Given the description of an element on the screen output the (x, y) to click on. 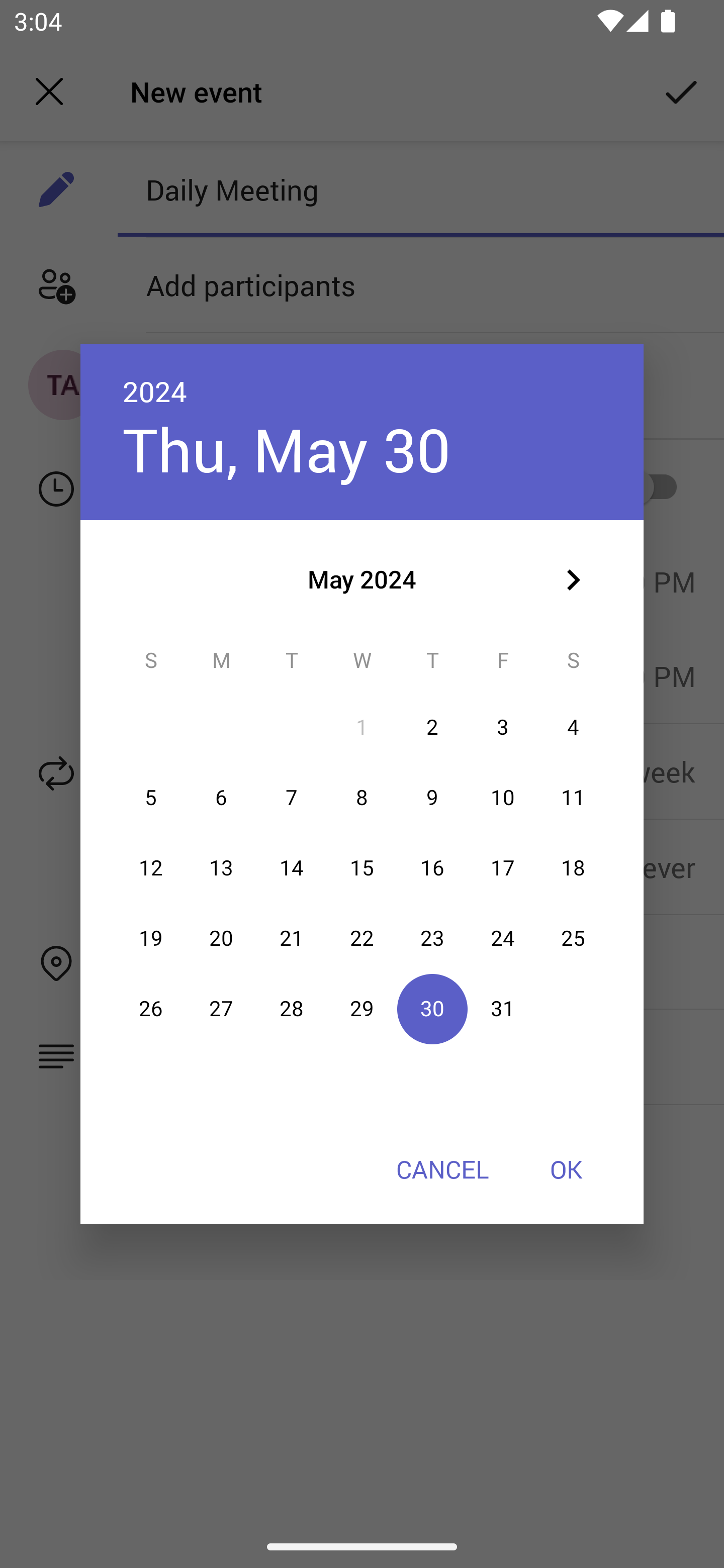
2024 (154, 391)
Thu, May 30 (286, 449)
Next month (572, 579)
1 01 May 2024 (361, 728)
2 02 May 2024 (432, 728)
3 03 May 2024 (502, 728)
4 04 May 2024 (572, 728)
5 05 May 2024 (150, 797)
6 06 May 2024 (221, 797)
7 07 May 2024 (291, 797)
8 08 May 2024 (361, 797)
9 09 May 2024 (432, 797)
10 10 May 2024 (502, 797)
11 11 May 2024 (572, 797)
12 12 May 2024 (150, 867)
13 13 May 2024 (221, 867)
14 14 May 2024 (291, 867)
15 15 May 2024 (361, 867)
16 16 May 2024 (432, 867)
17 17 May 2024 (502, 867)
18 18 May 2024 (572, 867)
19 19 May 2024 (150, 938)
20 20 May 2024 (221, 938)
21 21 May 2024 (291, 938)
22 22 May 2024 (361, 938)
23 23 May 2024 (432, 938)
24 24 May 2024 (502, 938)
25 25 May 2024 (572, 938)
26 26 May 2024 (150, 1008)
27 27 May 2024 (221, 1008)
28 28 May 2024 (291, 1008)
29 29 May 2024 (361, 1008)
30 30 May 2024 (432, 1008)
31 31 May 2024 (502, 1008)
CANCEL (442, 1168)
OK (565, 1168)
